Given the description of an element on the screen output the (x, y) to click on. 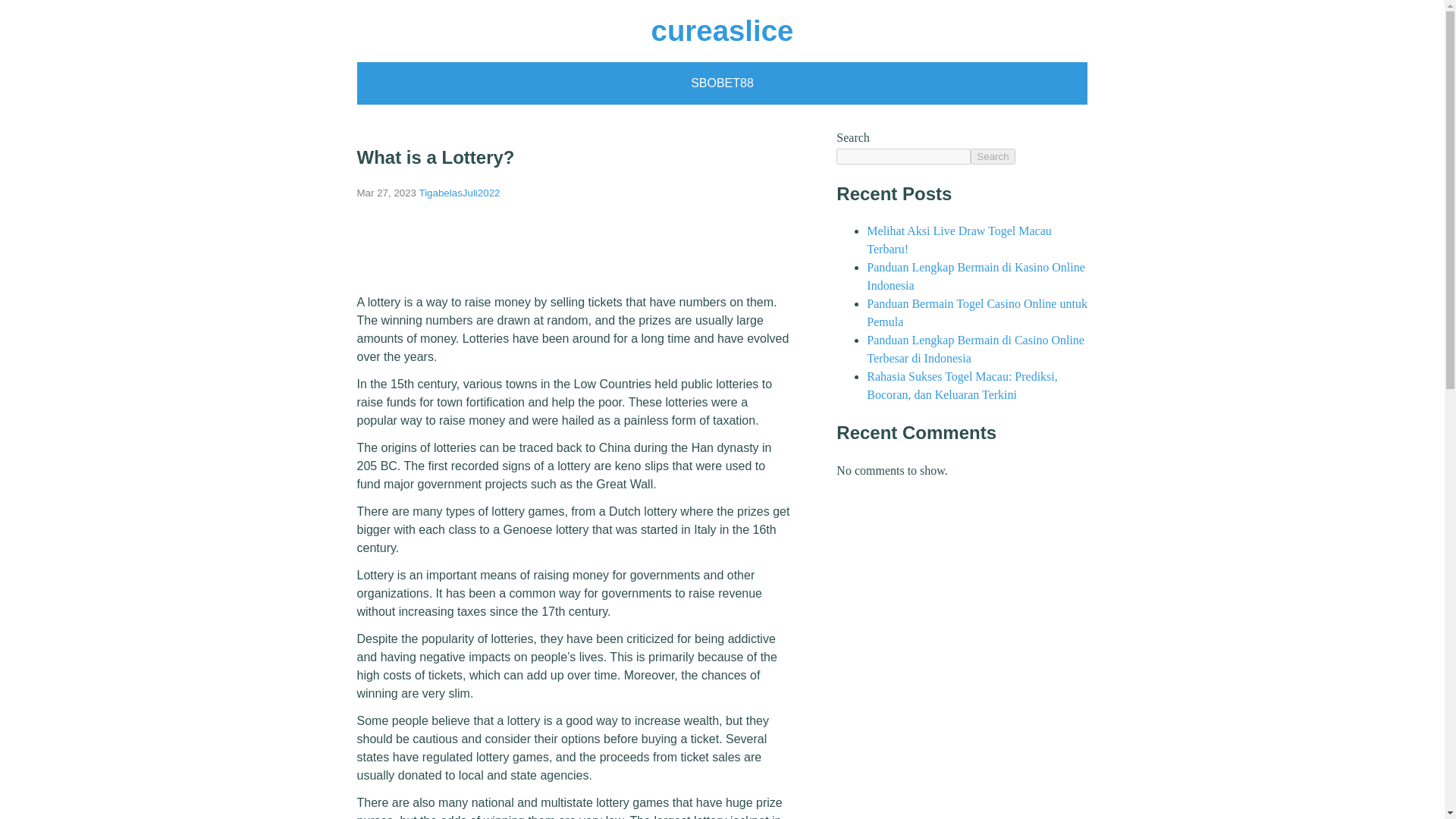
TigabelasJuli2022 (459, 193)
SBOBET88 (722, 82)
Melihat Aksi Live Draw Togel Macau Terbaru! (958, 239)
cureaslice (721, 30)
Search (992, 156)
Panduan Lengkap Bermain di Kasino Online Indonesia (975, 276)
Panduan Bermain Togel Casino Online untuk Pemula (976, 312)
